Given the description of an element on the screen output the (x, y) to click on. 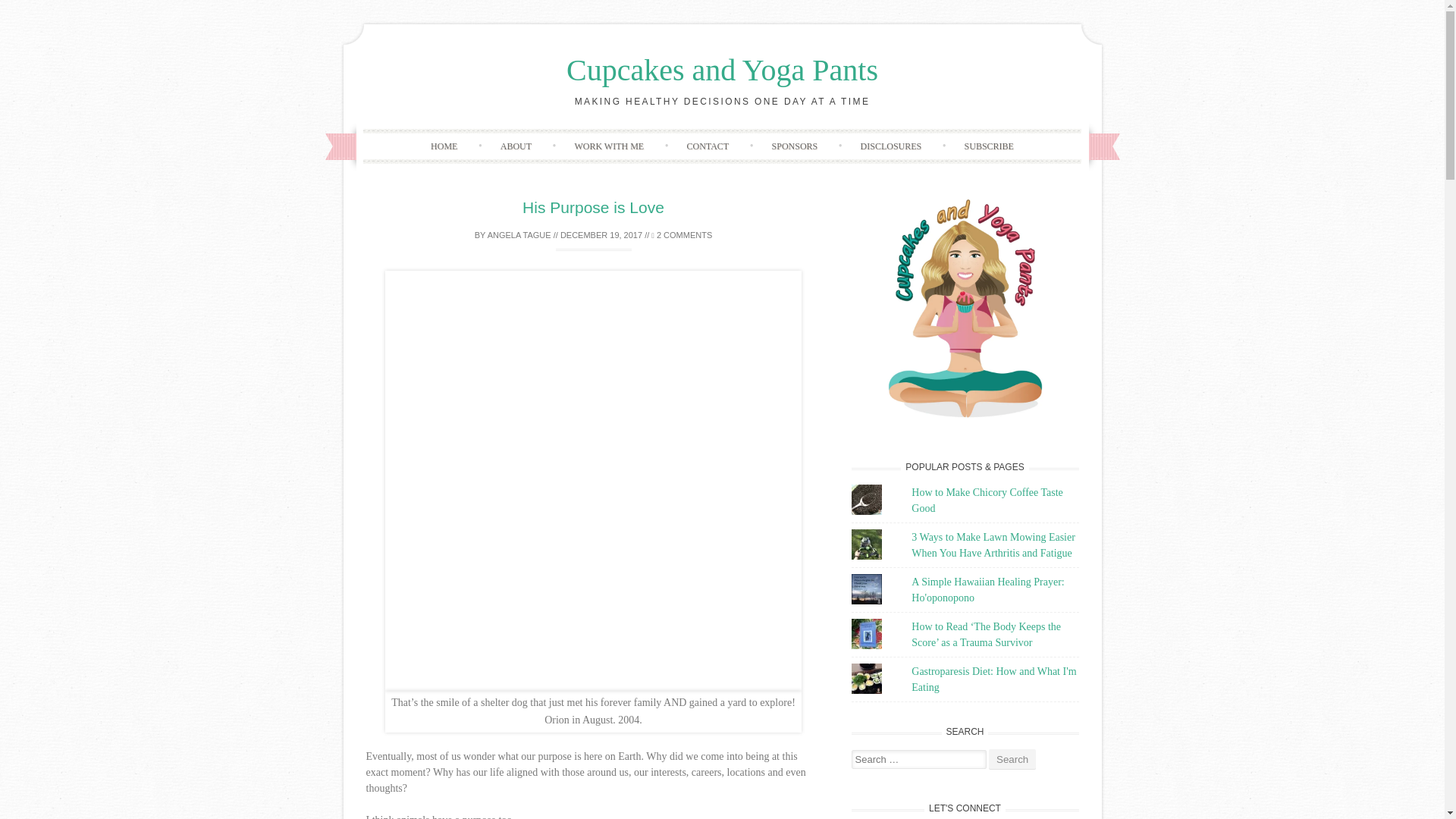
HOME (444, 145)
7:00 am (601, 234)
DISCLOSURES (891, 145)
Search (1011, 759)
View all posts by Angela Tague (519, 234)
SUBSCRIBE (989, 145)
SPONSORS (794, 145)
DECEMBER 19, 2017 (601, 234)
ABOUT (515, 145)
ANGELA TAGUE (519, 234)
